Given the description of an element on the screen output the (x, y) to click on. 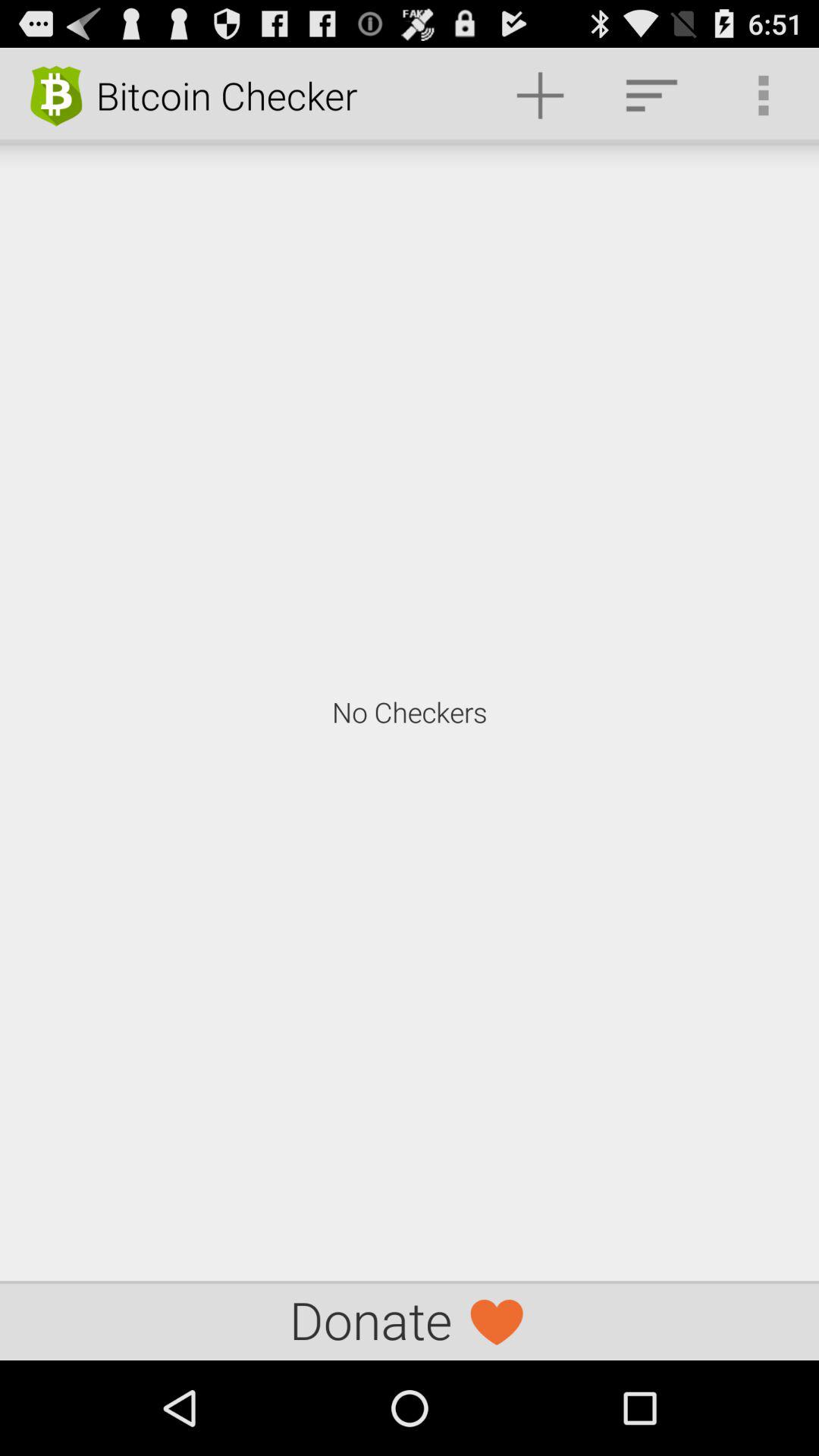
launch the item below the no checkers icon (409, 1320)
